Given the description of an element on the screen output the (x, y) to click on. 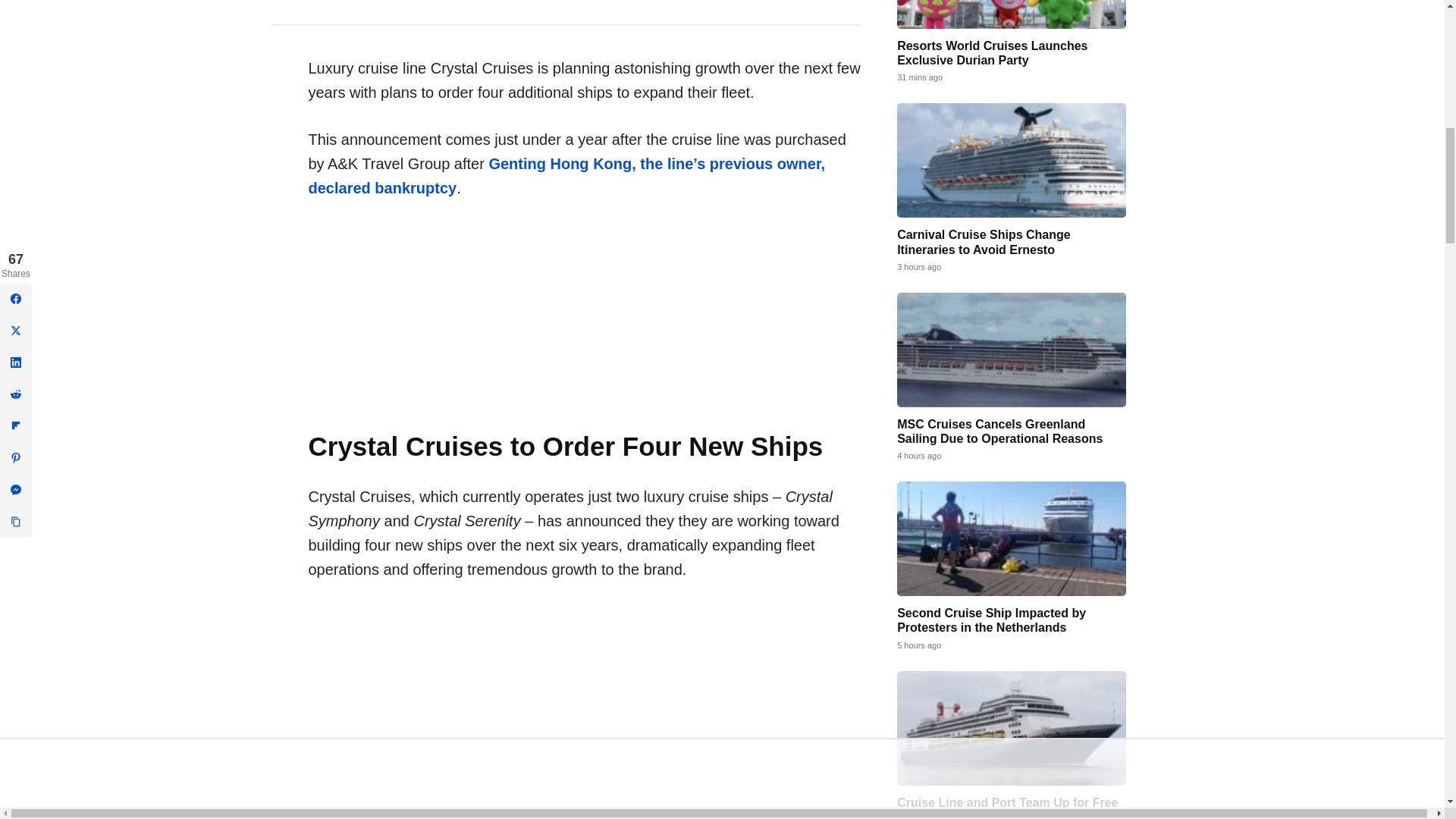
Second Cruise Ship Impacted by Protesters in the Netherlands (991, 619)
Carnival Cruise Ships Change Itineraries to Avoid Ernesto (983, 241)
Carnival Cruise Ships Change Itineraries to Avoid Ernesto (1010, 160)
Resorts World Cruises Launches Exclusive Durian Party (991, 52)
Resorts World Cruises Launches Exclusive Durian Party (1010, 14)
Second Cruise Ship Impacted by Protesters in the Netherlands (1010, 538)
